Given the description of an element on the screen output the (x, y) to click on. 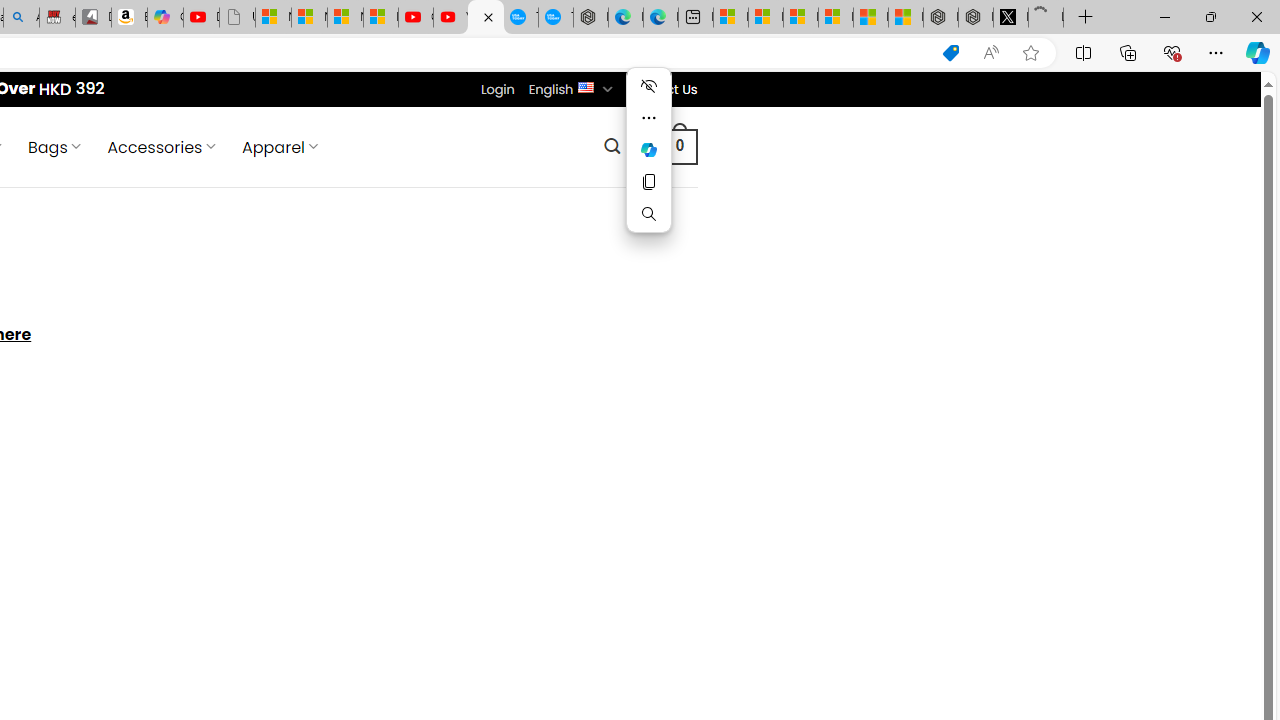
Hide menu (648, 85)
Untitled (1046, 17)
Mini menu on text selection (648, 161)
